Given the description of an element on the screen output the (x, y) to click on. 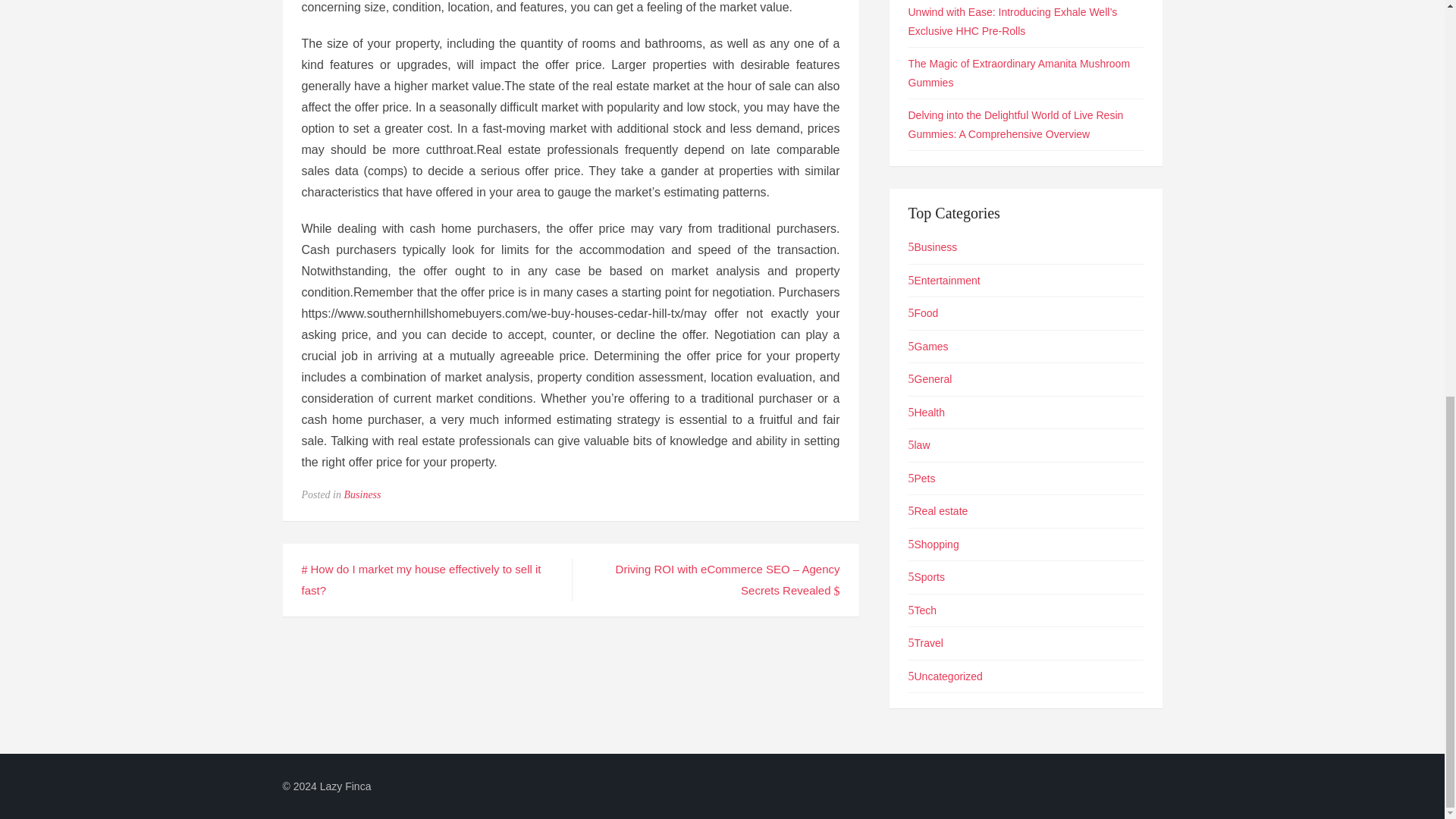
Business (933, 246)
How do I market my house effectively to sell it fast? (421, 578)
Uncategorized (945, 675)
Shopping (933, 543)
Travel (925, 643)
General (930, 378)
Business (362, 494)
Pets (922, 478)
Health (926, 411)
Food (923, 313)
Real estate (938, 510)
Tech (922, 610)
Entertainment (943, 279)
The Magic of Extraordinary Amanita Mushroom Gummies (1019, 72)
